Given the description of an element on the screen output the (x, y) to click on. 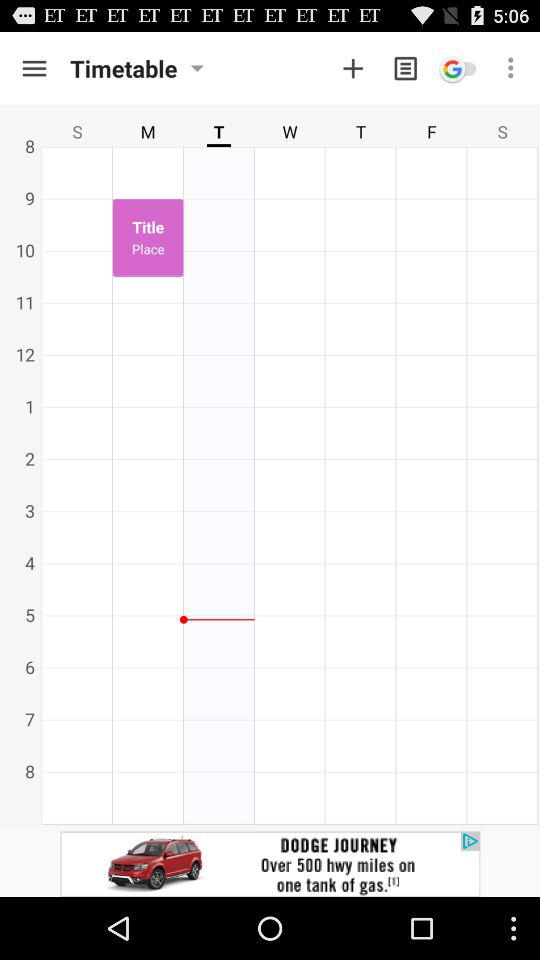
select the menu (405, 68)
